Given the description of an element on the screen output the (x, y) to click on. 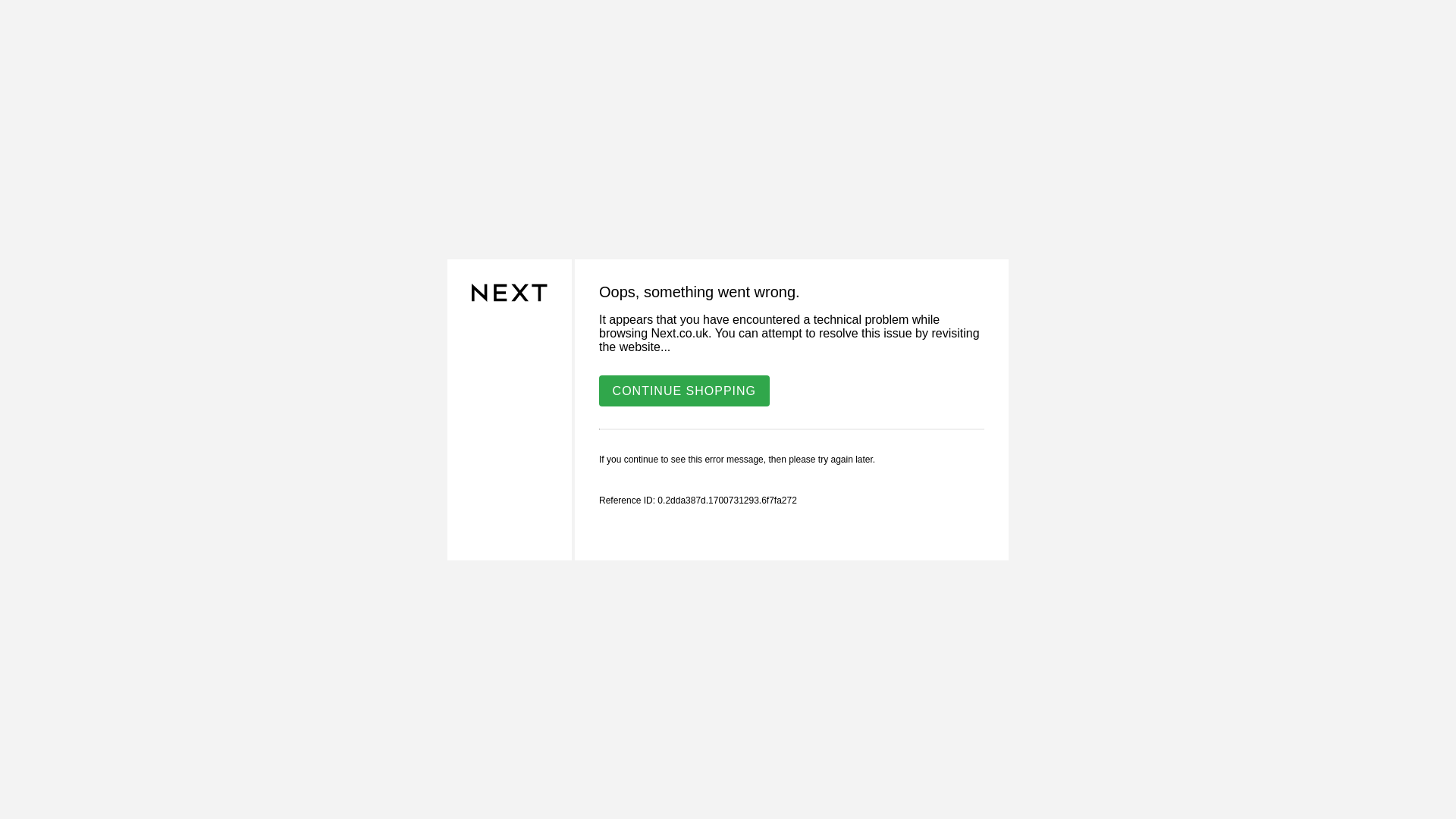
CONTINUE SHOPPING Element type: text (684, 389)
